Given the description of an element on the screen output the (x, y) to click on. 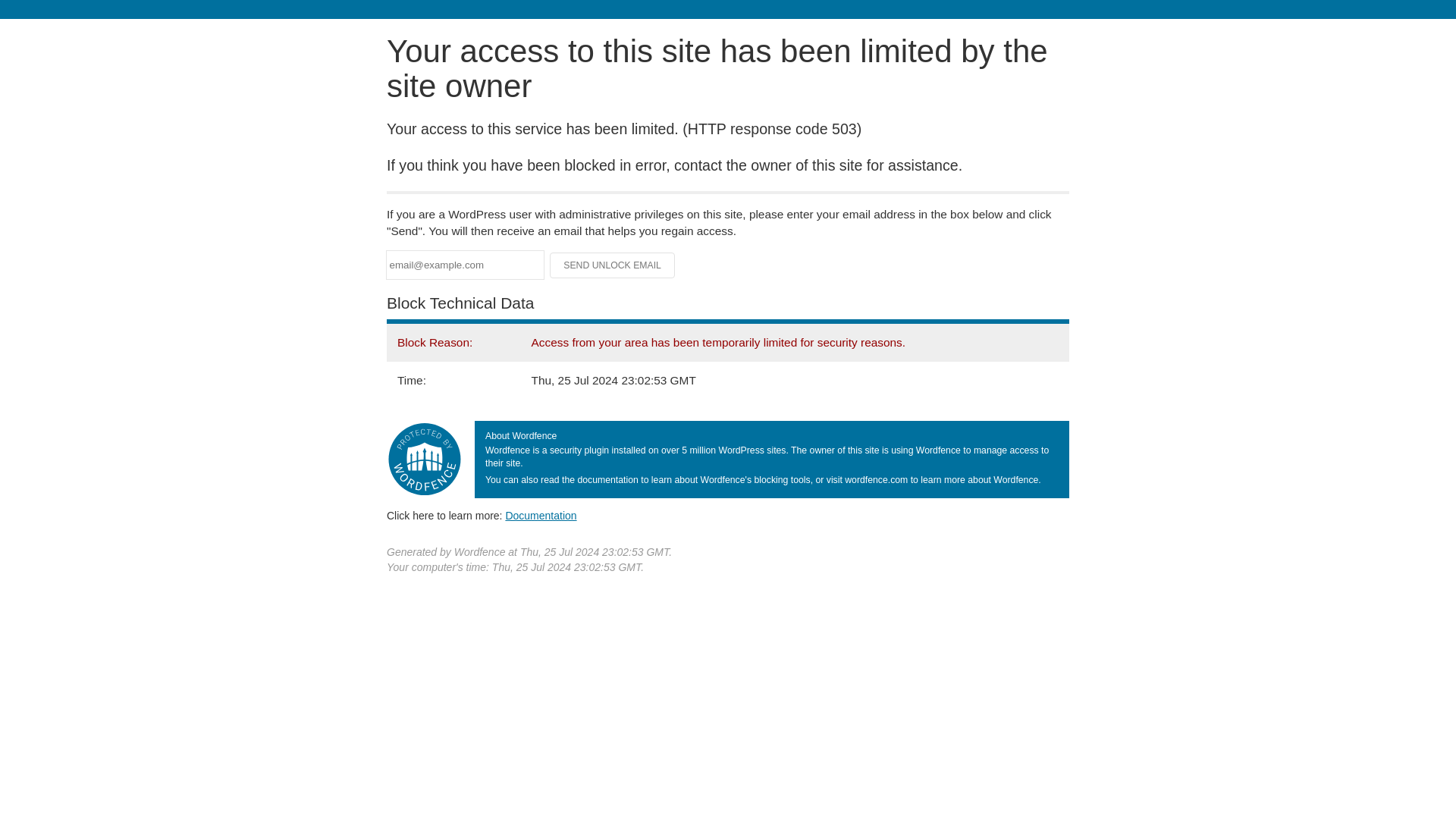
Documentation (540, 515)
Send Unlock Email (612, 265)
Send Unlock Email (612, 265)
